Given the description of an element on the screen output the (x, y) to click on. 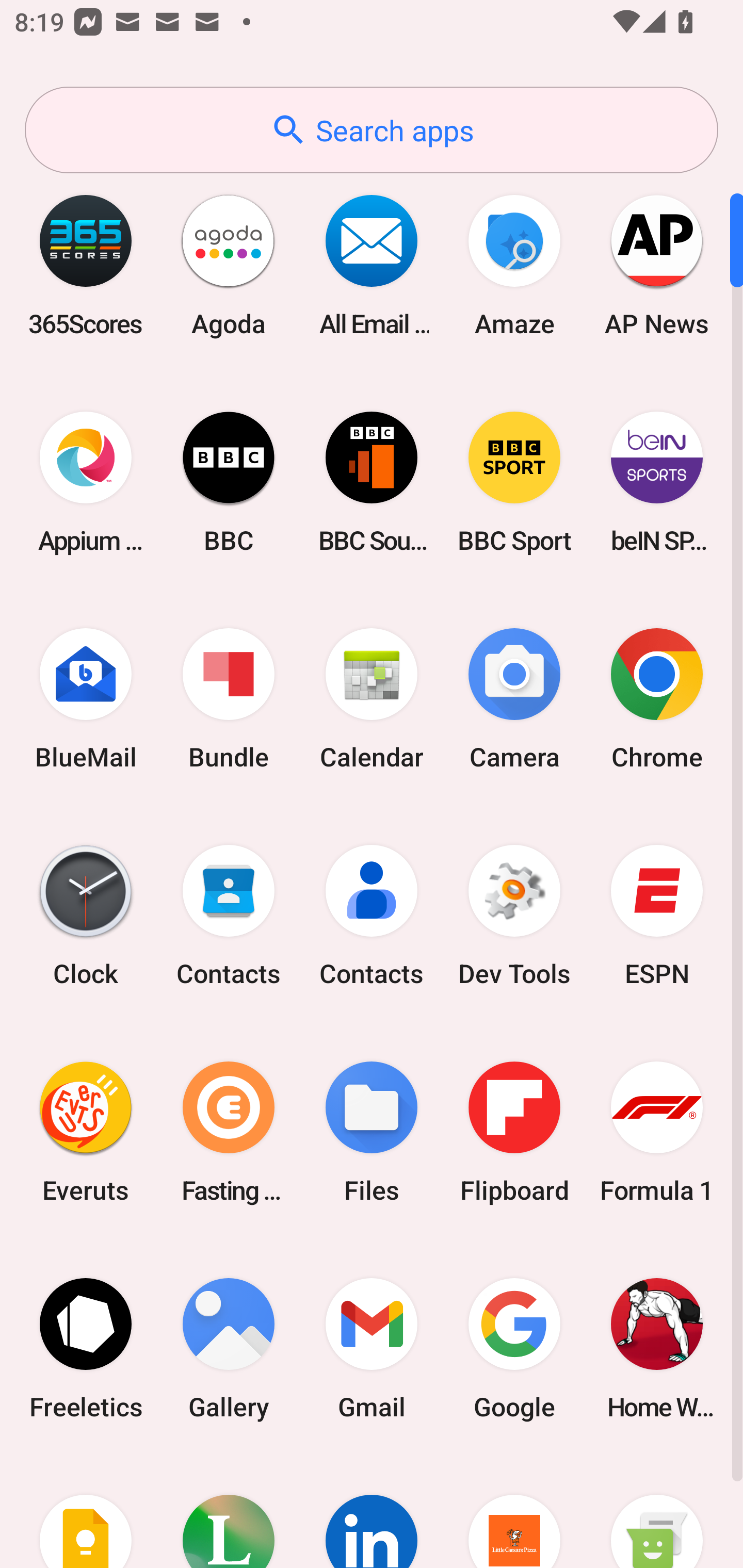
  Search apps (371, 130)
365Scores (85, 264)
Agoda (228, 264)
All Email Connect (371, 264)
Amaze (514, 264)
AP News (656, 264)
Appium Settings (85, 482)
BBC (228, 482)
BBC Sounds (371, 482)
BBC Sport (514, 482)
beIN SPORTS (656, 482)
BlueMail (85, 699)
Bundle (228, 699)
Calendar (371, 699)
Camera (514, 699)
Chrome (656, 699)
Clock (85, 915)
Contacts (228, 915)
Contacts (371, 915)
Dev Tools (514, 915)
ESPN (656, 915)
Everuts (85, 1131)
Fasting Coach (228, 1131)
Files (371, 1131)
Flipboard (514, 1131)
Formula 1 (656, 1131)
Freeletics (85, 1348)
Gallery (228, 1348)
Gmail (371, 1348)
Google (514, 1348)
Home Workout (656, 1348)
Keep Notes (85, 1512)
Lifesum (228, 1512)
LinkedIn (371, 1512)
Little Caesars Pizza (514, 1512)
Messaging (656, 1512)
